Given the description of an element on the screen output the (x, y) to click on. 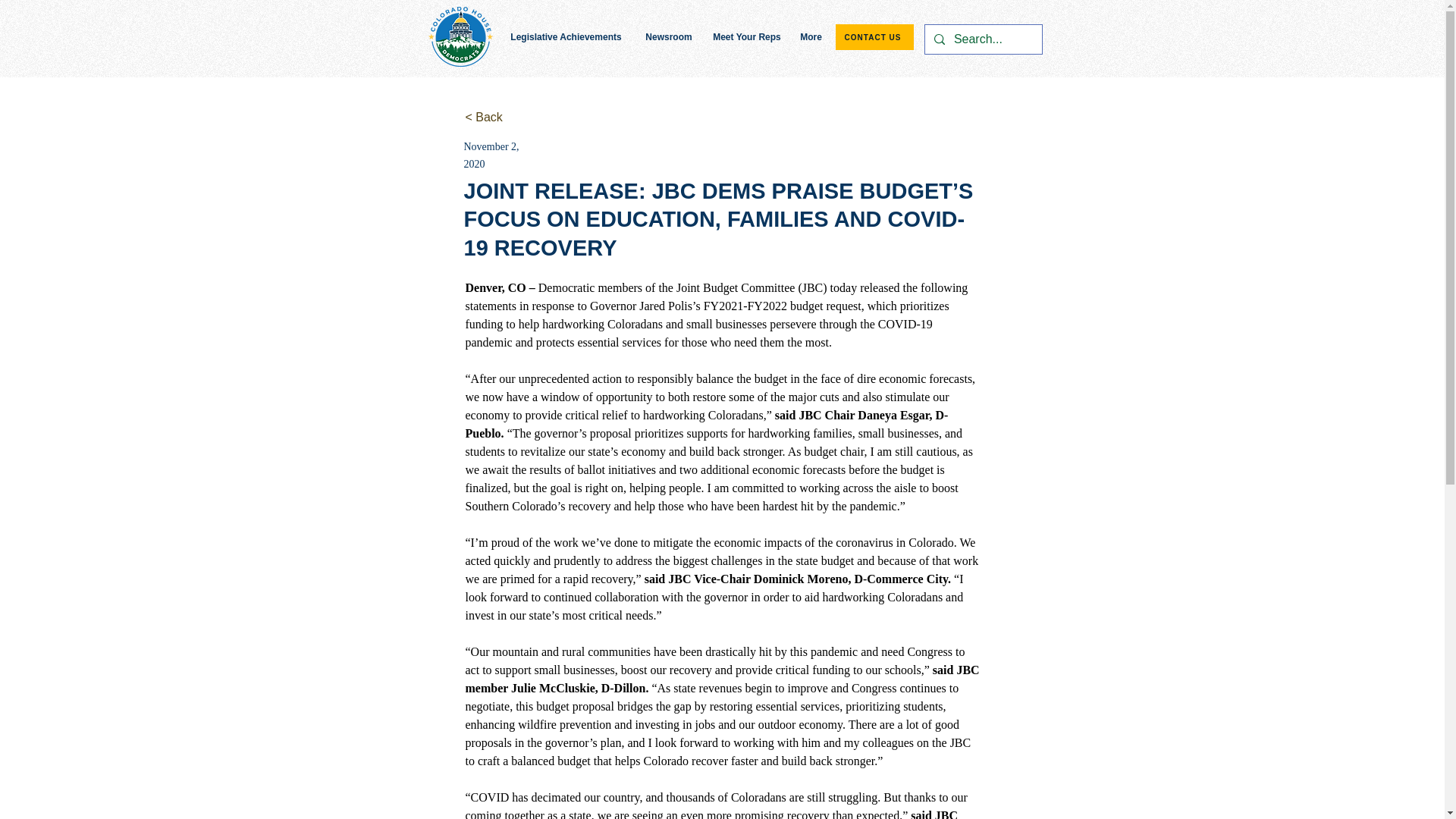
Legislative Achievements (565, 37)
Meet Your Reps (745, 37)
Newsroom (668, 37)
CONTACT US (874, 36)
